Given the description of an element on the screen output the (x, y) to click on. 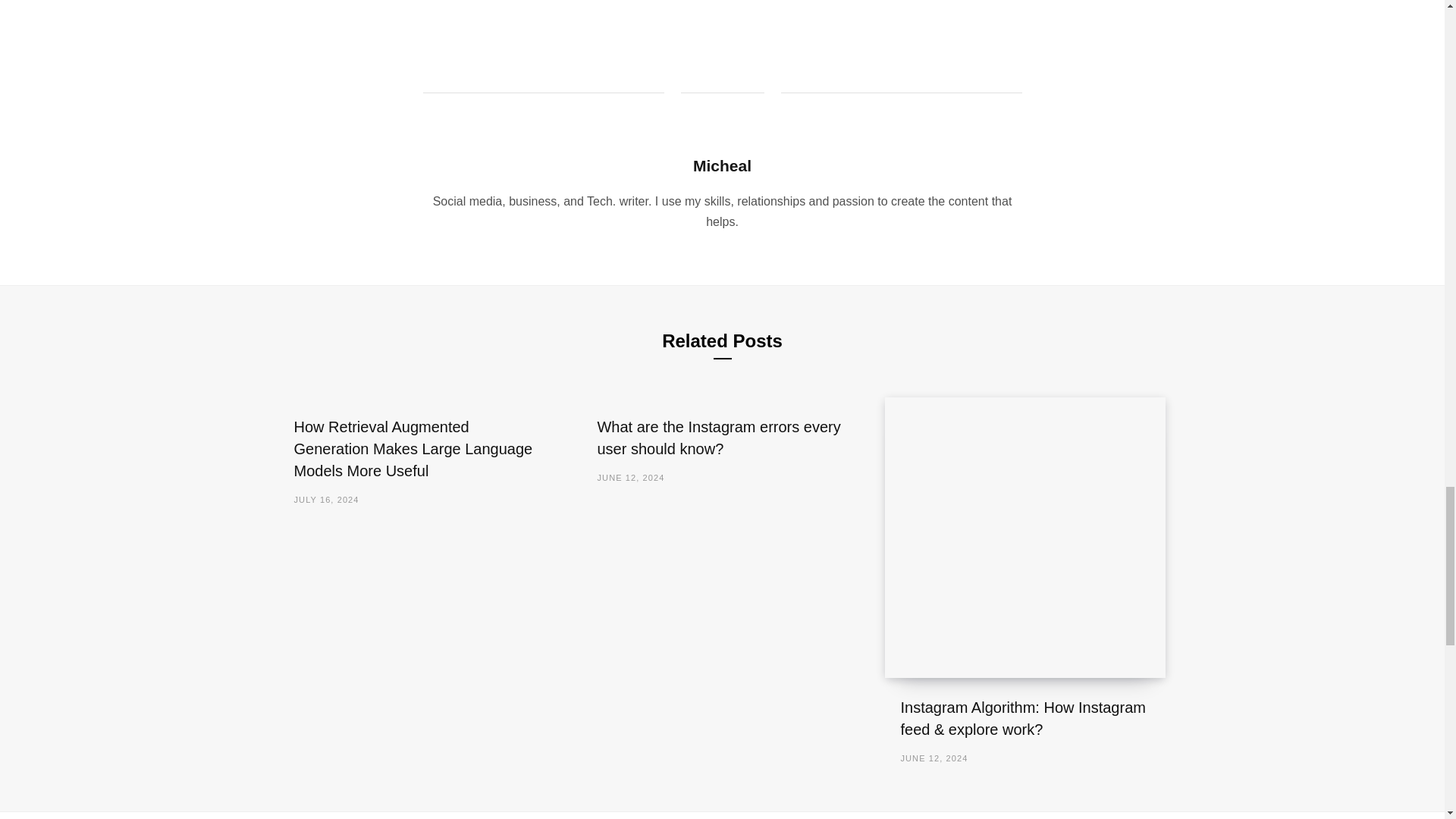
What are the Instagram errors every user should know? (718, 437)
Posts by Micheal (722, 165)
Micheal (722, 165)
